Given the description of an element on the screen output the (x, y) to click on. 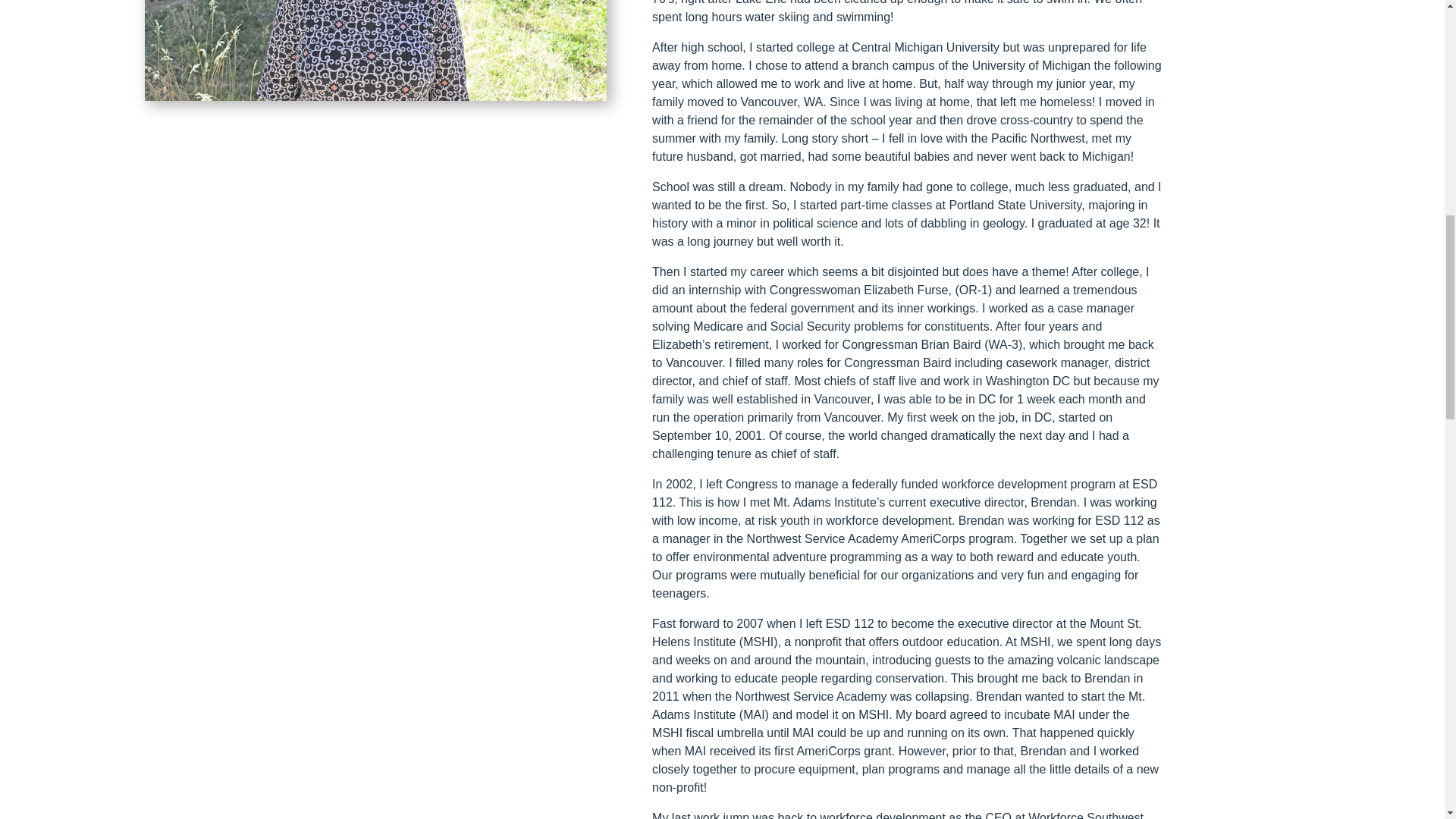
jeannenews (375, 49)
